Given the description of an element on the screen output the (x, y) to click on. 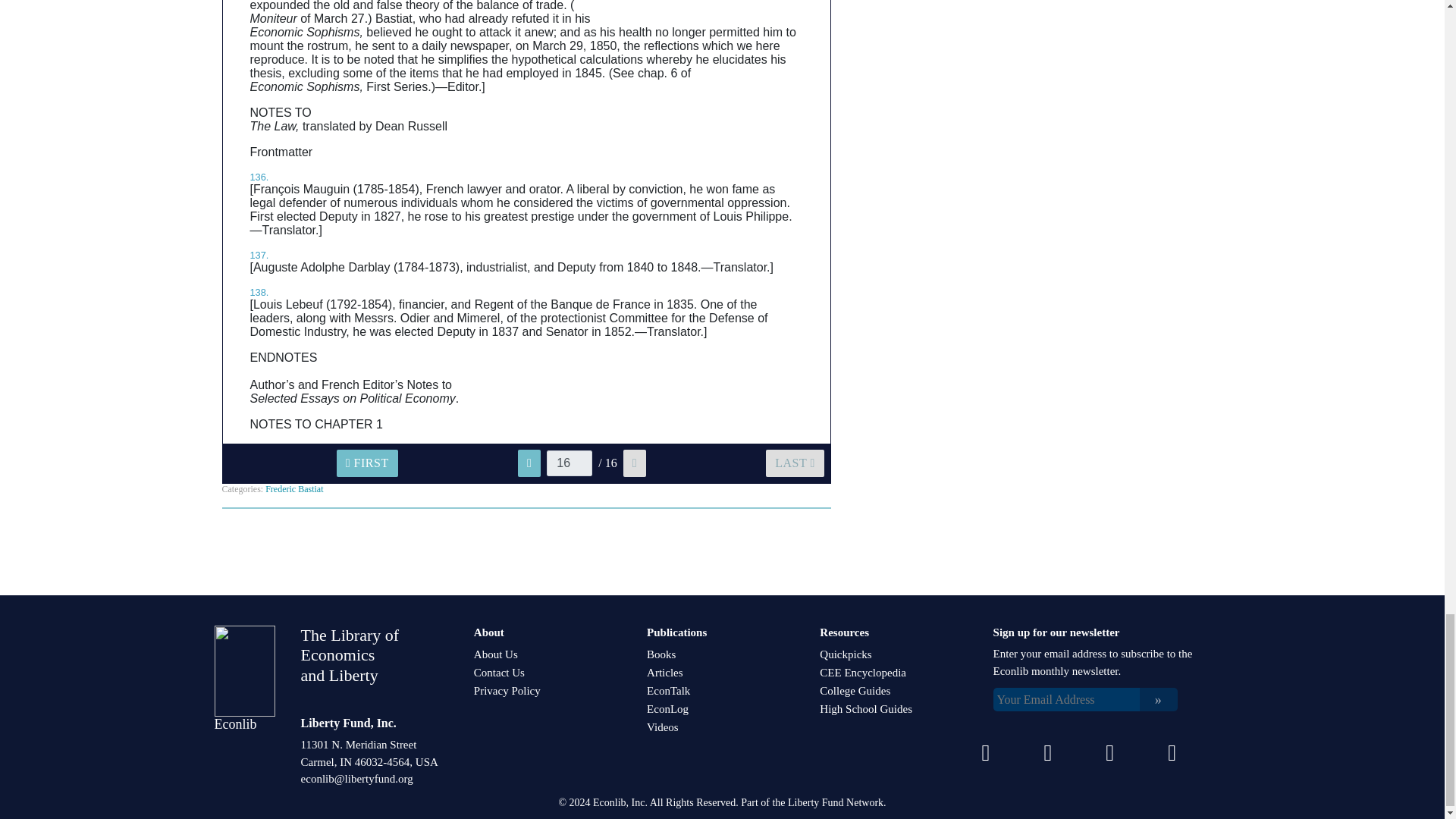
Return to text (259, 255)
Return to text (259, 292)
16 (569, 462)
Return to text (259, 176)
